Given the description of an element on the screen output the (x, y) to click on. 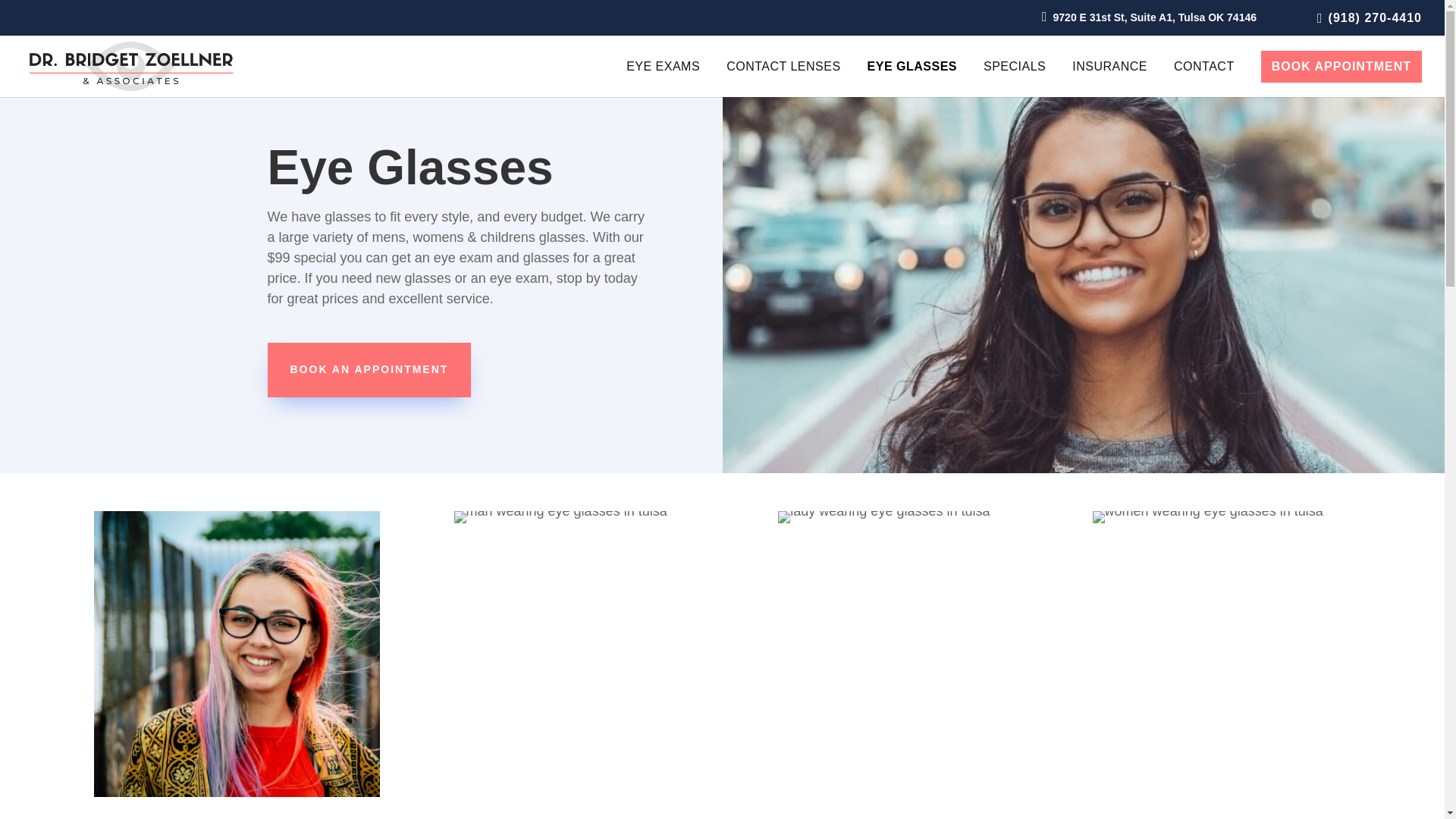
lady wearing eye glasses in tulsa (883, 517)
SPECIALS (1014, 79)
girl wearing eye glasses in tulsa (237, 653)
CONTACT (1203, 79)
EYE EXAMS (663, 79)
BOOK AN APPOINTMENT (368, 370)
women wearing eye glasses in tulsa (1208, 517)
man wearing eye glasses in tulsa (560, 517)
EYE GLASSES (911, 79)
BOOK APPOINTMENT (1341, 66)
INSURANCE (1109, 79)
CONTACT LENSES (783, 79)
